Given the description of an element on the screen output the (x, y) to click on. 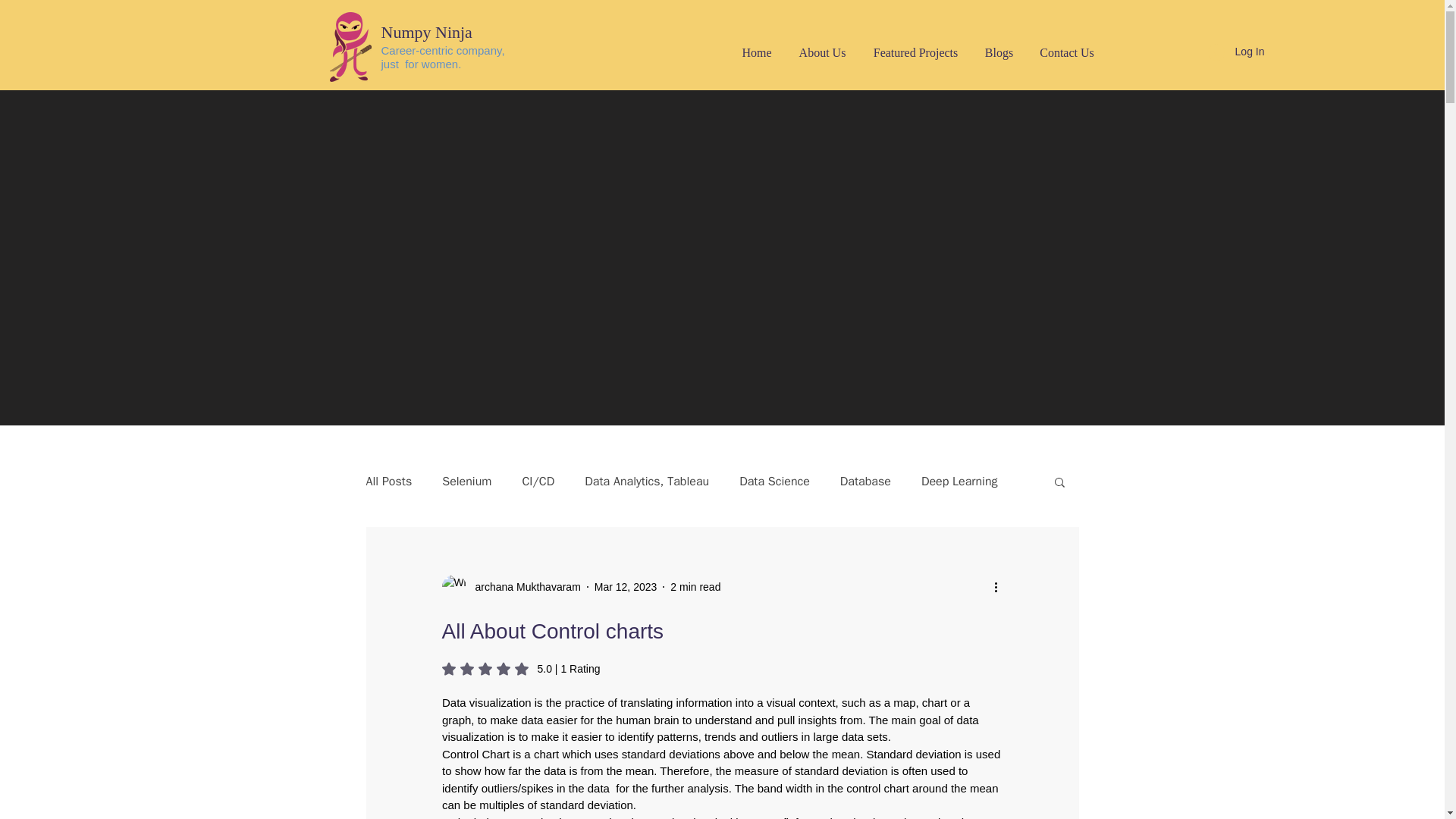
About Us (823, 52)
Data Science (774, 480)
Deep Learning (959, 480)
Log In (1235, 52)
Database (865, 480)
Home (756, 52)
Mar 12, 2023 (626, 586)
Numpy Ninja (425, 31)
Blogs (999, 52)
archana Mukthavaram (522, 587)
Selenium (467, 480)
Featured Projects (916, 52)
Contact Us (1067, 52)
2 min read (694, 586)
All Posts (388, 480)
